Given the description of an element on the screen output the (x, y) to click on. 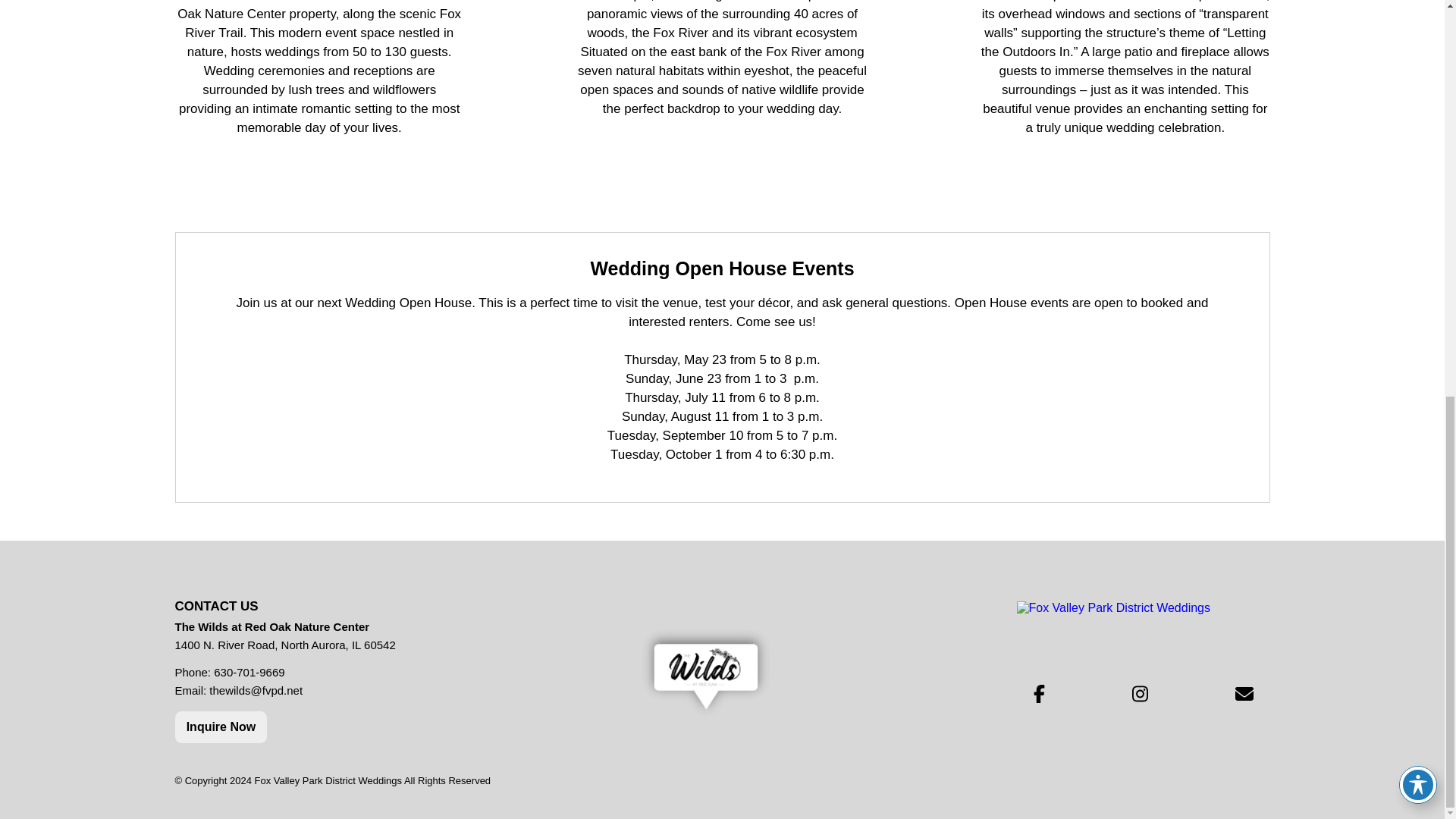
Follow Us on Instagram (1139, 696)
630-701-9669 (248, 671)
Email Us (1243, 696)
Get Directions (705, 673)
Inquire Now (220, 726)
